Given the description of an element on the screen output the (x, y) to click on. 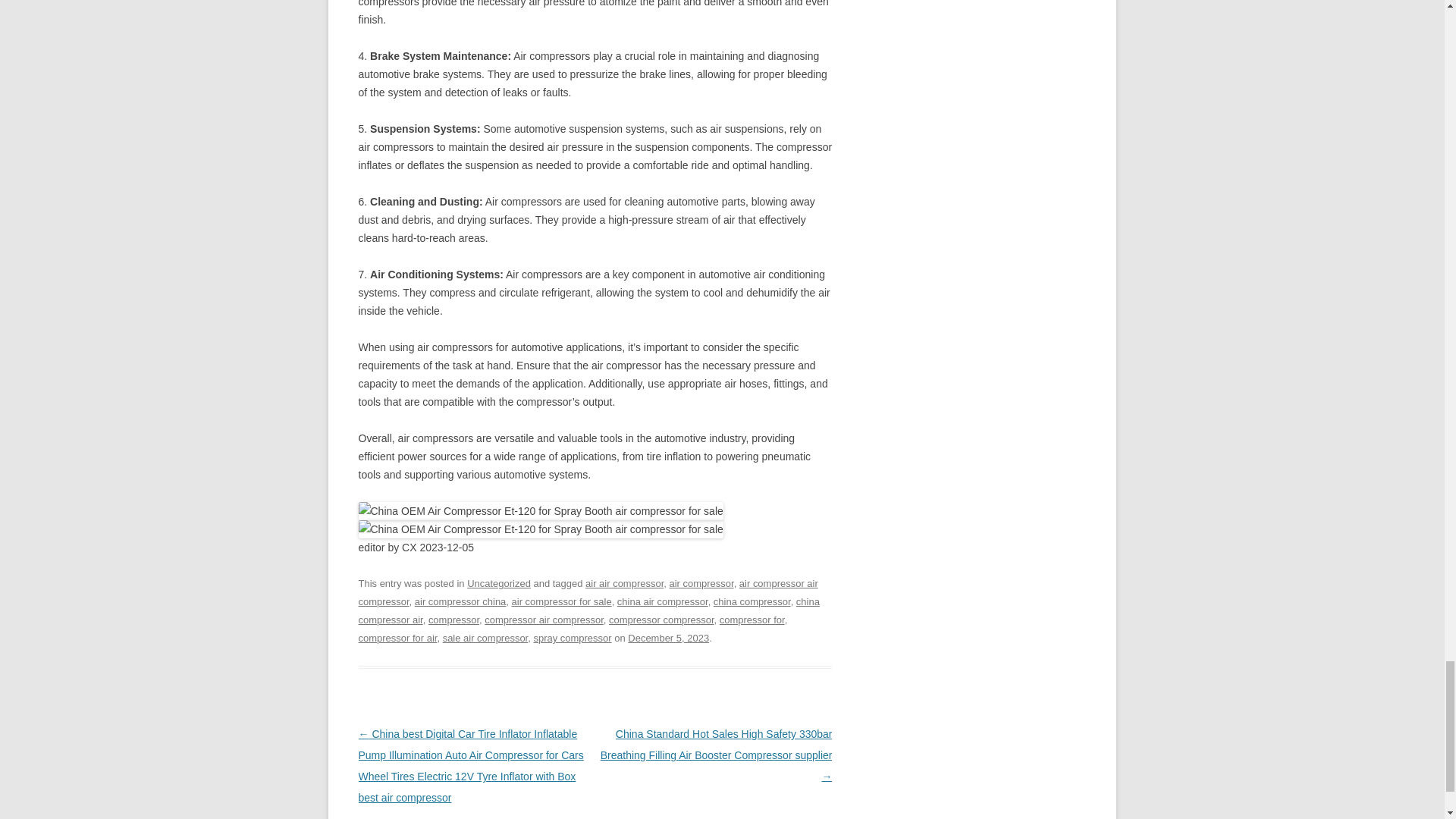
china compressor air (588, 610)
china compressor (751, 601)
compressor air compressor (544, 619)
compressor for air (397, 637)
compressor (453, 619)
spray compressor (571, 637)
china air compressor (662, 601)
compressor compressor (661, 619)
air compressor for sale (561, 601)
December 5, 2023 (668, 637)
